Given the description of an element on the screen output the (x, y) to click on. 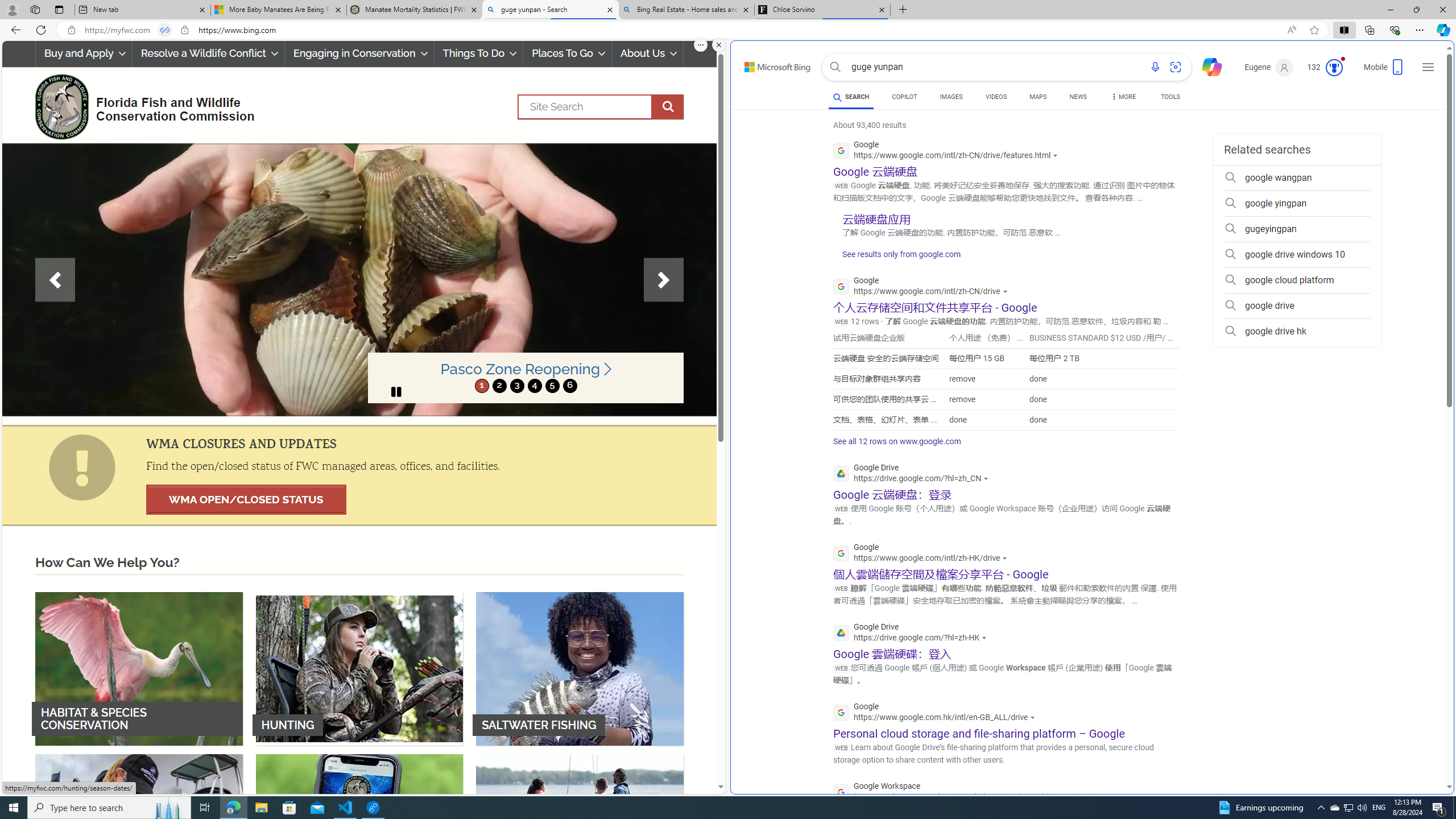
Back (13, 29)
Browser essentials (1394, 29)
Engaging in Conservation (358, 53)
Things To Do (478, 53)
move to slide 2 (499, 385)
Refresh (40, 29)
Bing Real Estate - Home sales and rental listings (685, 9)
google drive hk (1297, 331)
Back to Bing search (770, 64)
Copilot (Ctrl+Shift+.) (1442, 29)
HABITAT & SPECIES CONSERVATION (138, 668)
Search (835, 66)
Engaging in Conservation (358, 53)
Personal Profile (12, 9)
